Given the description of an element on the screen output the (x, y) to click on. 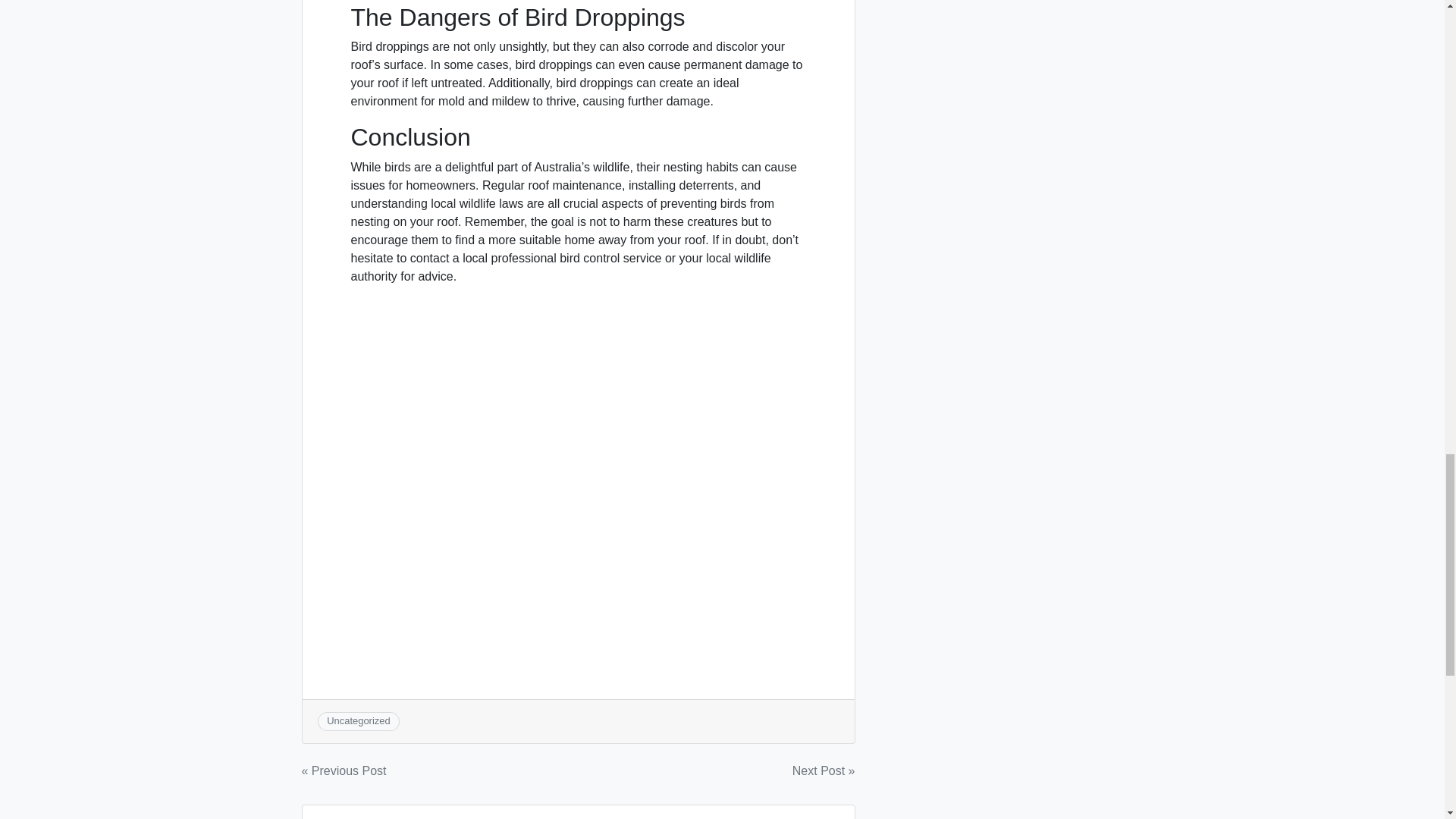
Uncategorized (358, 720)
